Given the description of an element on the screen output the (x, y) to click on. 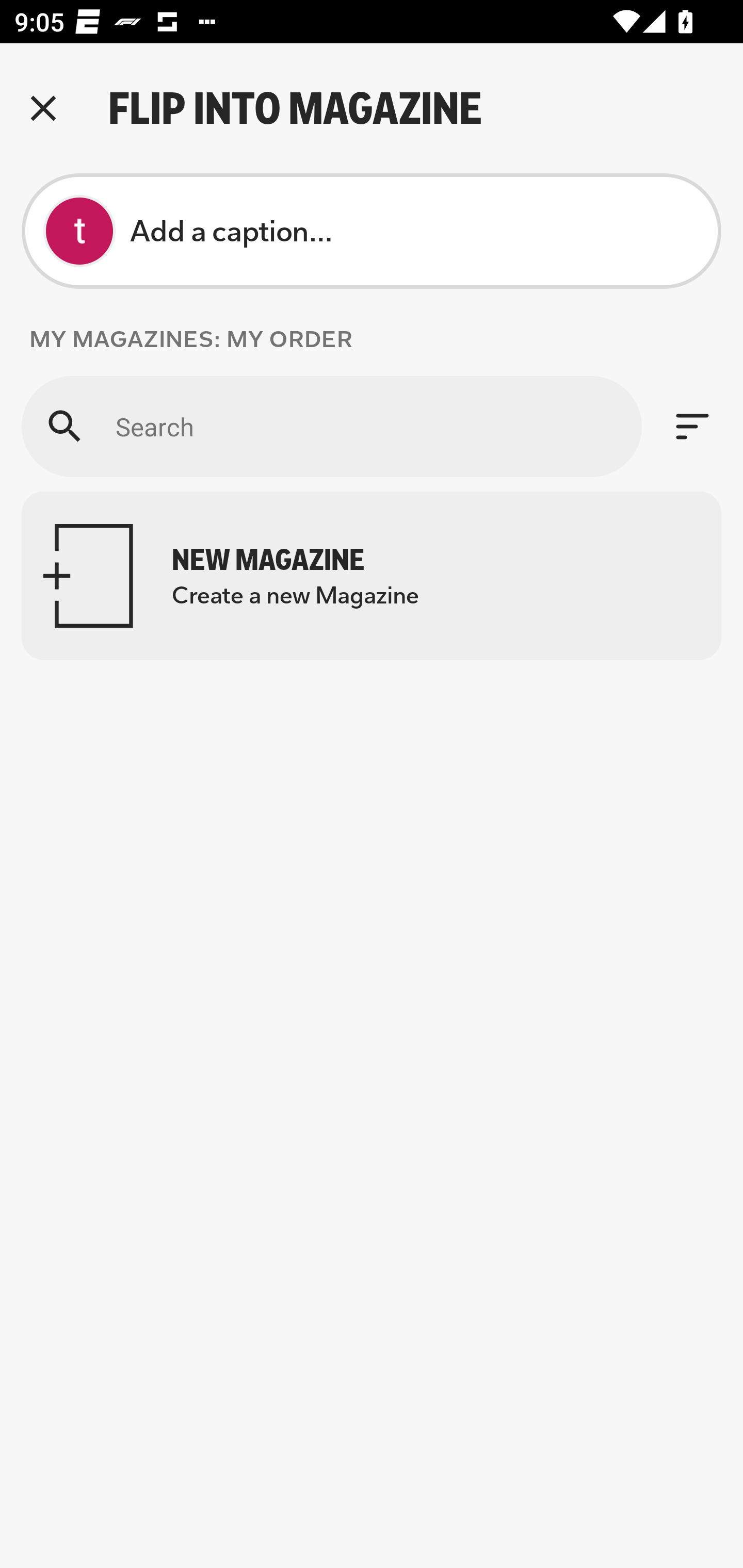
test appium Add a caption… (371, 231)
Search (331, 426)
NEW MAGAZINE Create a new Magazine (371, 575)
